Given the description of an element on the screen output the (x, y) to click on. 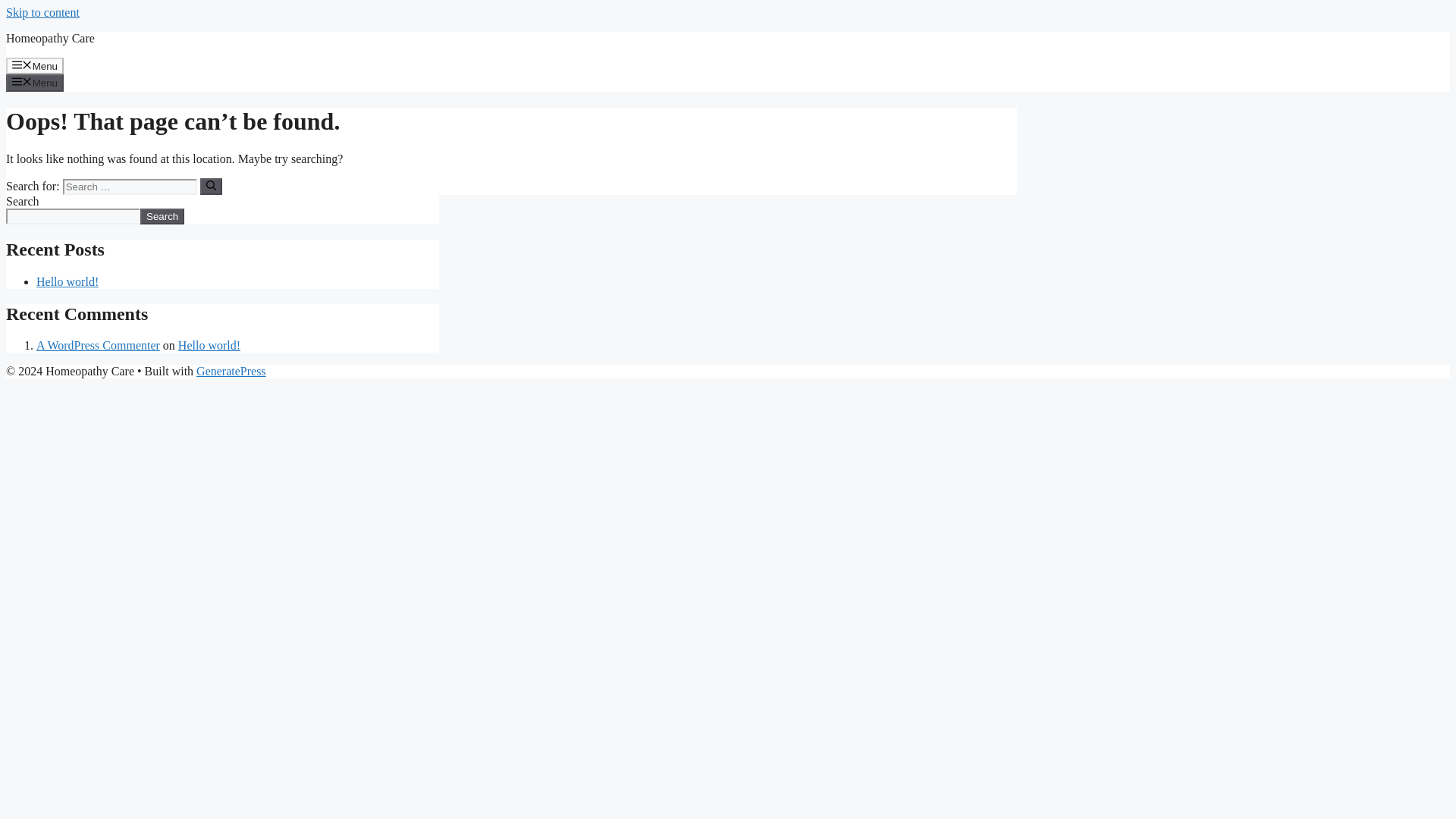
Hello world! (208, 345)
Search (161, 216)
Skip to content (42, 11)
A WordPress Commenter (98, 345)
Menu (34, 82)
Hello world! (67, 281)
Homeopathy Care (49, 38)
Menu (34, 65)
Skip to content (42, 11)
Search for: (129, 186)
